Given the description of an element on the screen output the (x, y) to click on. 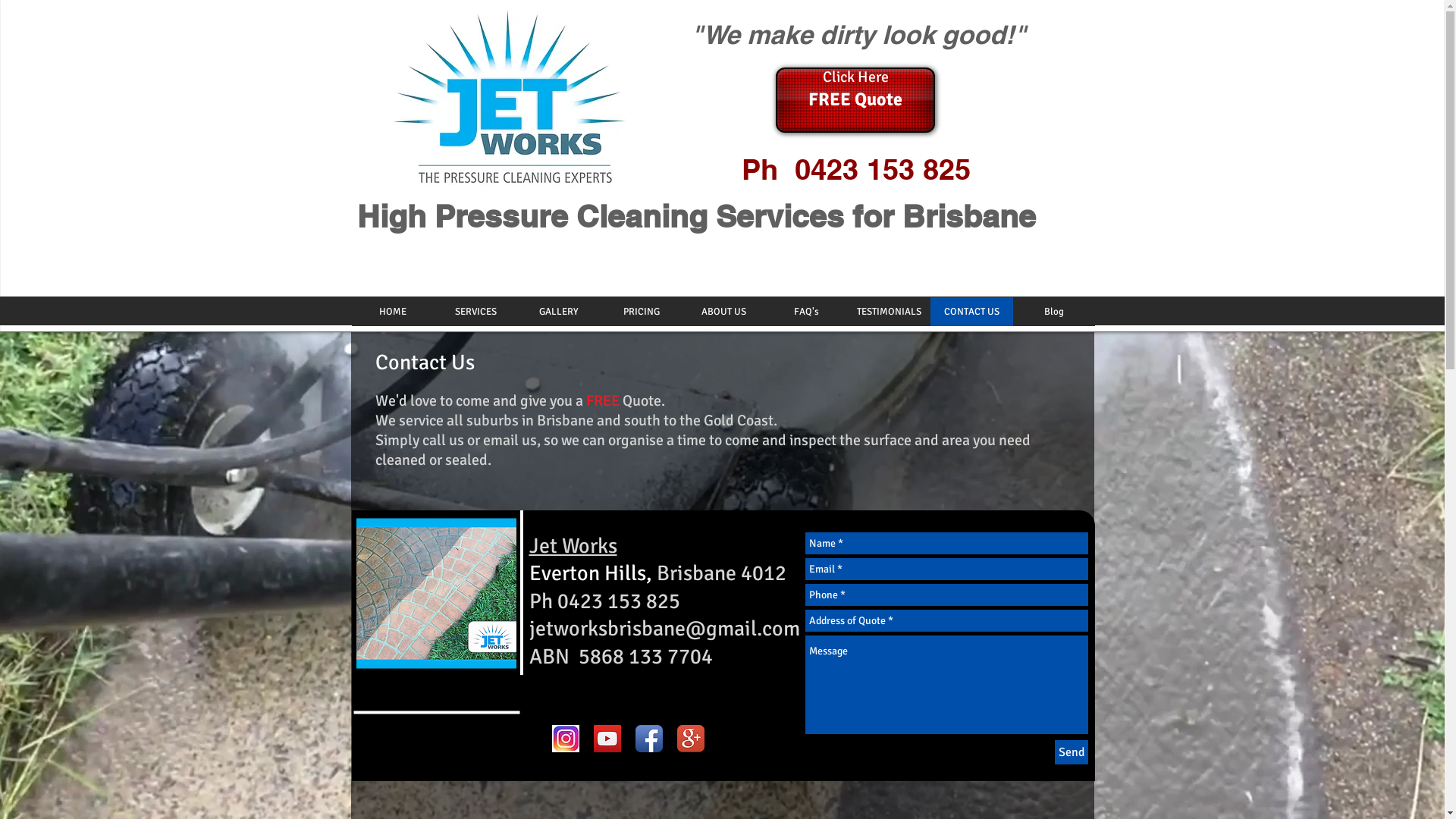
PRICING Element type: text (640, 311)
CONTACT US Element type: text (970, 311)
GALLERY Element type: text (558, 311)
jetworksbrisbane@gmail.com Element type: text (664, 628)
HOME Element type: text (392, 311)
FAQ's Element type: text (805, 311)
TESTIMONIALS Element type: text (888, 311)
SERVICES Element type: text (474, 311)
Send Element type: text (1070, 752)
logo14.jpg Element type: hover (509, 97)
Blog Element type: text (1054, 311)
ABOUT US Element type: text (723, 311)
FREE Quote Element type: text (854, 99)
Driveway pressure cleaning carseldine brisbane.png Element type: hover (436, 592)
